Given the description of an element on the screen output the (x, y) to click on. 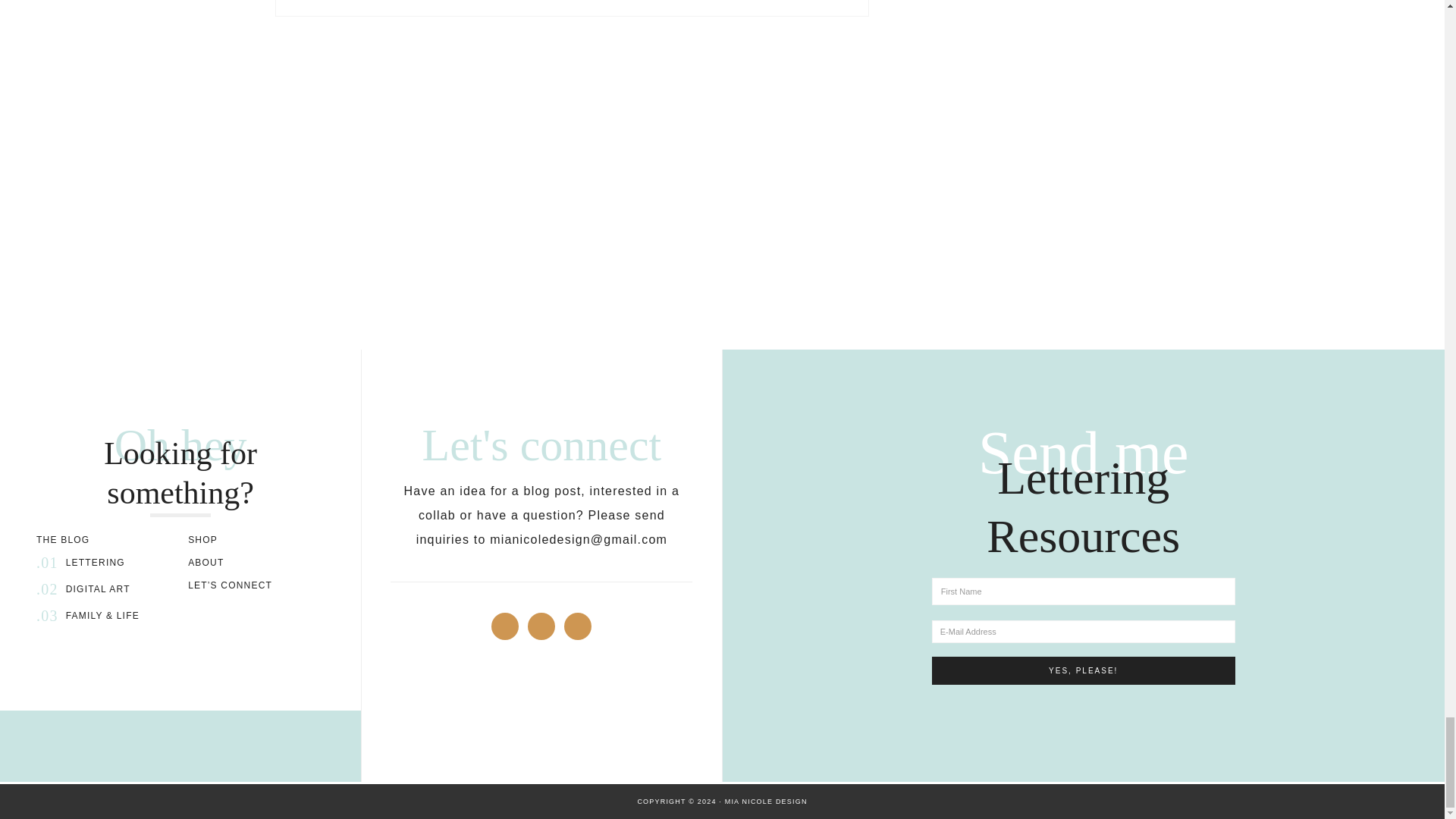
Yes, Please! (1082, 670)
